Given the description of an element on the screen output the (x, y) to click on. 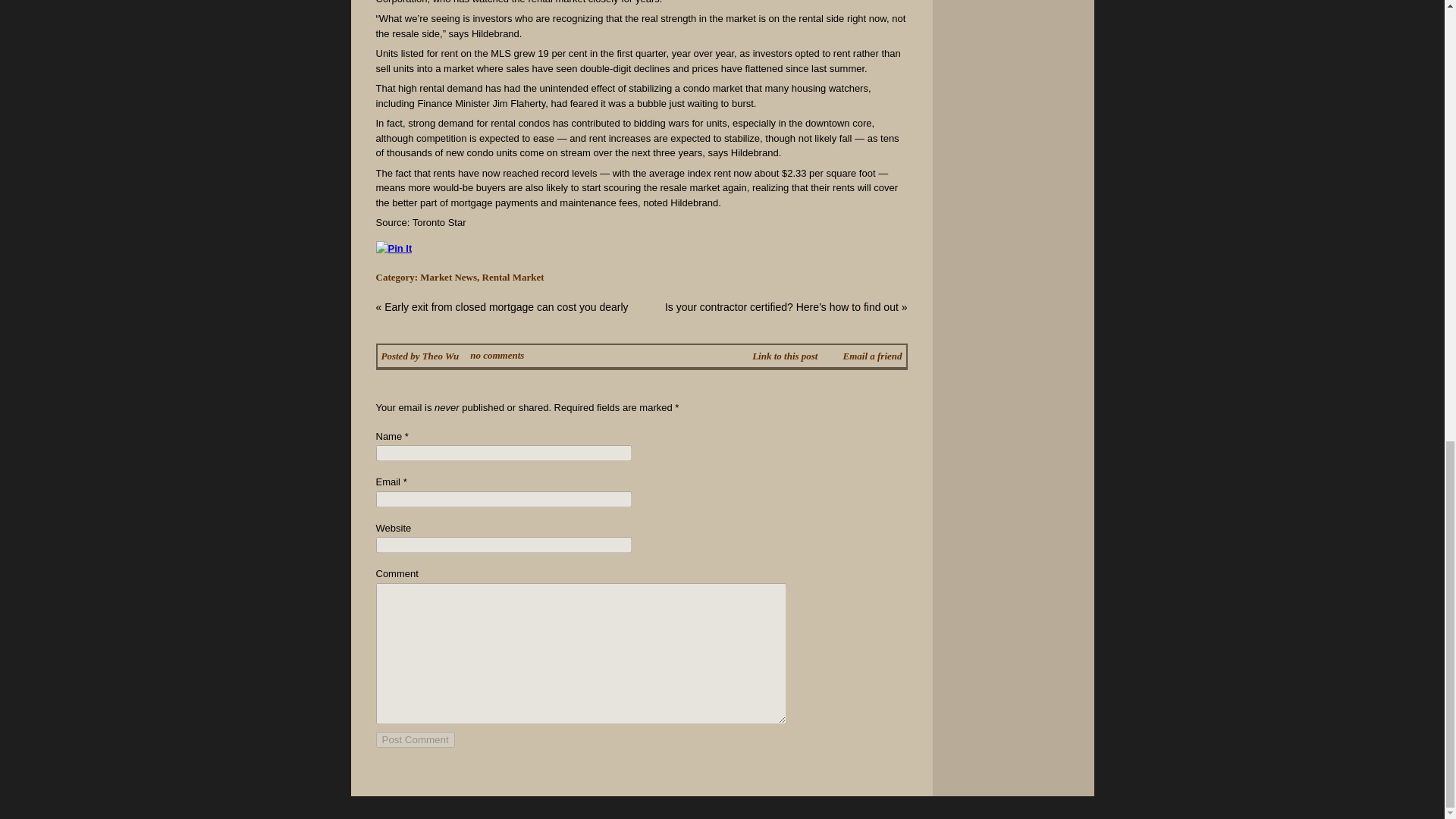
Post Comment (414, 739)
View posts by Theo Wu (441, 355)
